Given the description of an element on the screen output the (x, y) to click on. 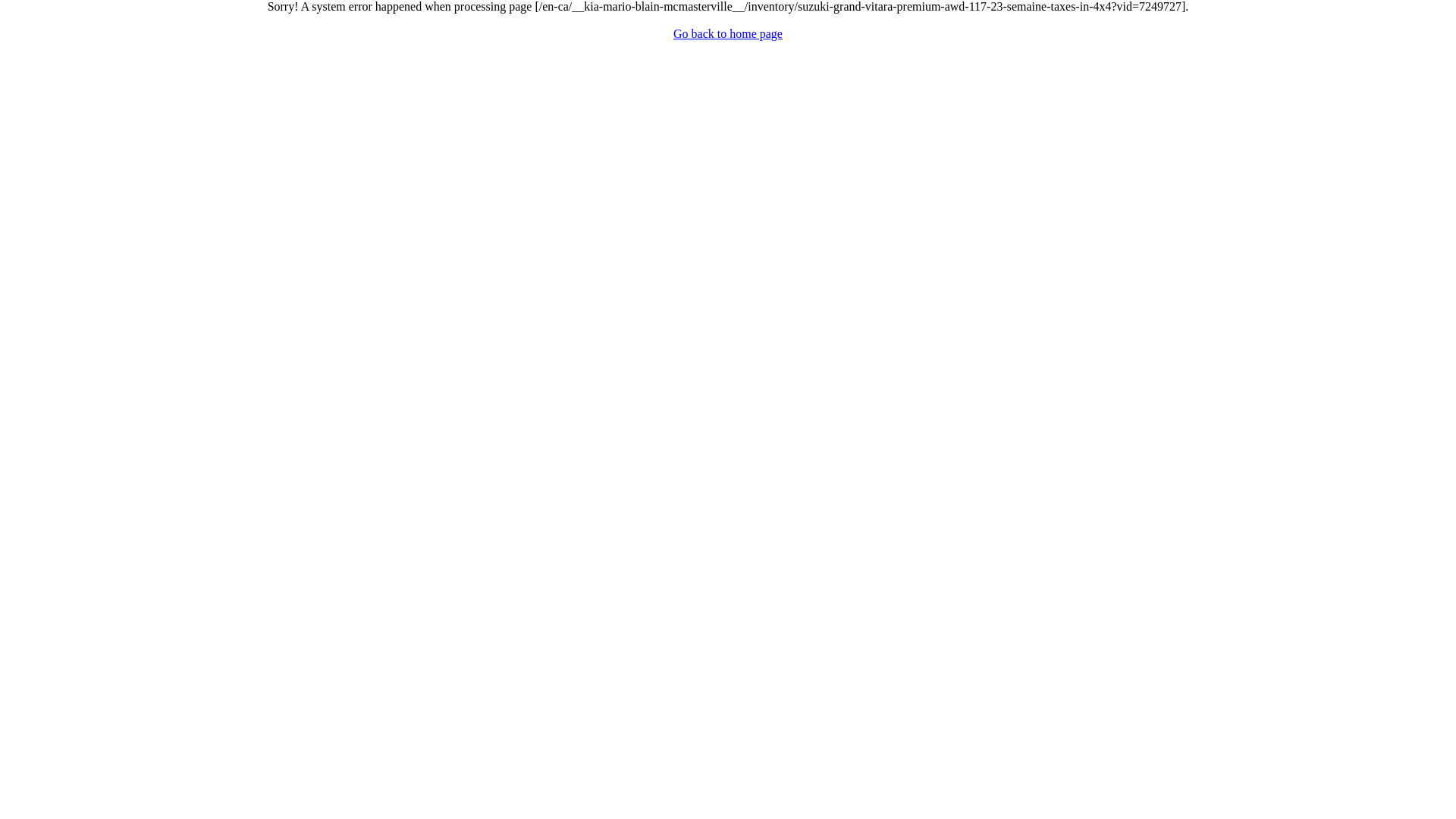
Go back to home page Element type: text (727, 33)
